Given the description of an element on the screen output the (x, y) to click on. 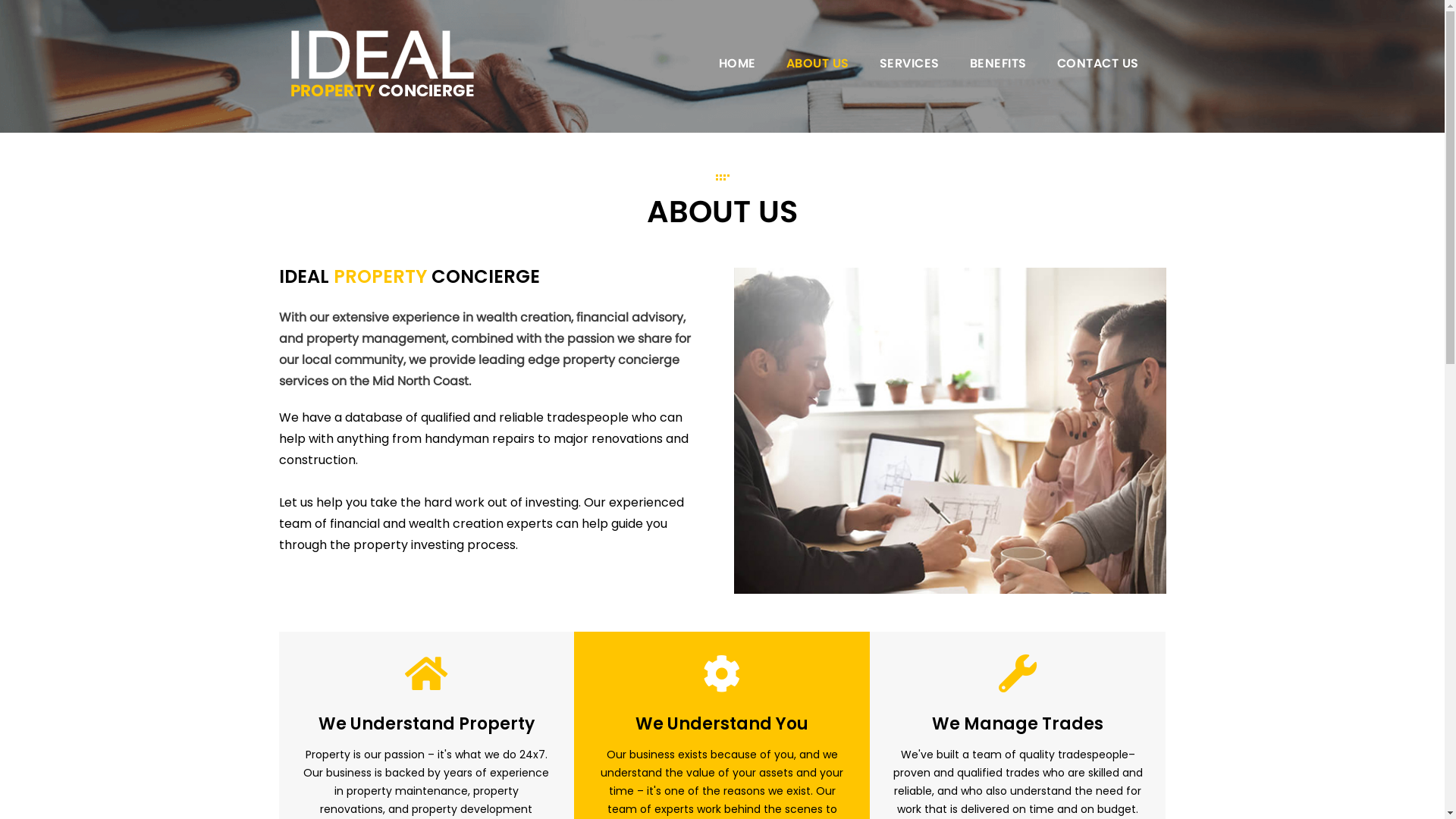
HOME Element type: text (737, 63)
Ideal Property Concierge Element type: hover (382, 63)
ABOUT US Element type: text (816, 63)
BENEFITS Element type: text (997, 63)
CONTACT US Element type: text (1097, 63)
SERVICES Element type: text (909, 63)
